Given the description of an element on the screen output the (x, y) to click on. 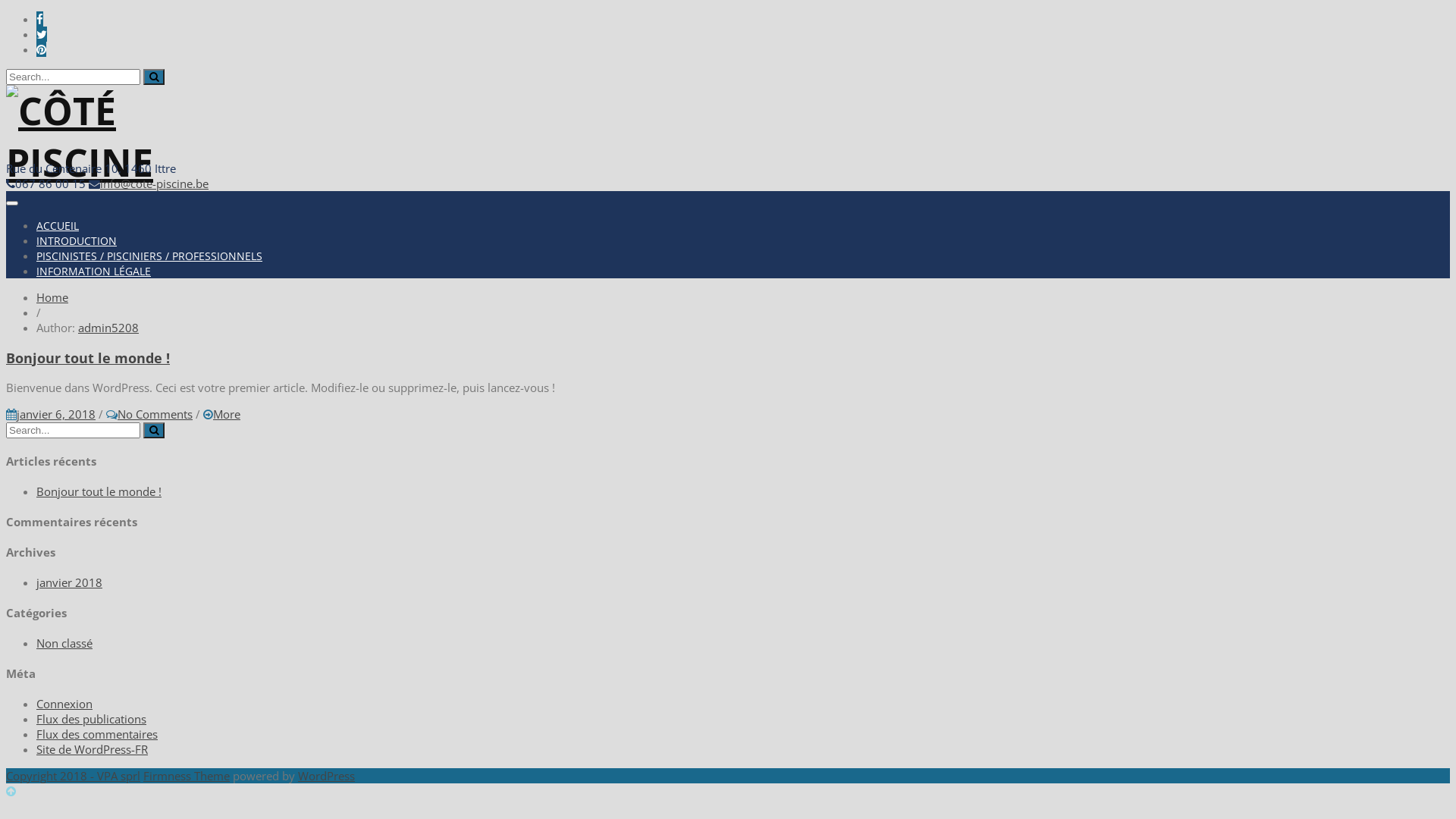
Home Element type: text (52, 296)
Bonjour tout le monde ! Element type: text (98, 490)
Copyright 2018 - VPA sprl Element type: text (73, 775)
Twitter Element type: hover (41, 33)
Connexion Element type: text (64, 703)
Flux des publications Element type: text (91, 718)
INTRODUCTION Element type: text (76, 240)
More Element type: text (226, 413)
Site de WordPress-FR Element type: text (91, 748)
ACCUEIL Element type: text (57, 225)
Pinterest Element type: hover (41, 48)
Flux des commentaires Element type: text (96, 733)
Firmness Theme Element type: text (186, 775)
PISCINISTES / PISCINIERS / PROFESSIONNELS Element type: text (149, 255)
janvier 6, 2018 Element type: text (55, 413)
info@cote-piscine.be Element type: text (154, 183)
janvier 2018 Element type: text (69, 581)
WordPress Element type: text (326, 775)
admin5208 Element type: text (108, 327)
Toggle navigation Element type: text (12, 202)
Facebook Element type: hover (39, 18)
No Comments Element type: text (154, 413)
Bonjour tout le monde ! Element type: text (727, 357)
